Given the description of an element on the screen output the (x, y) to click on. 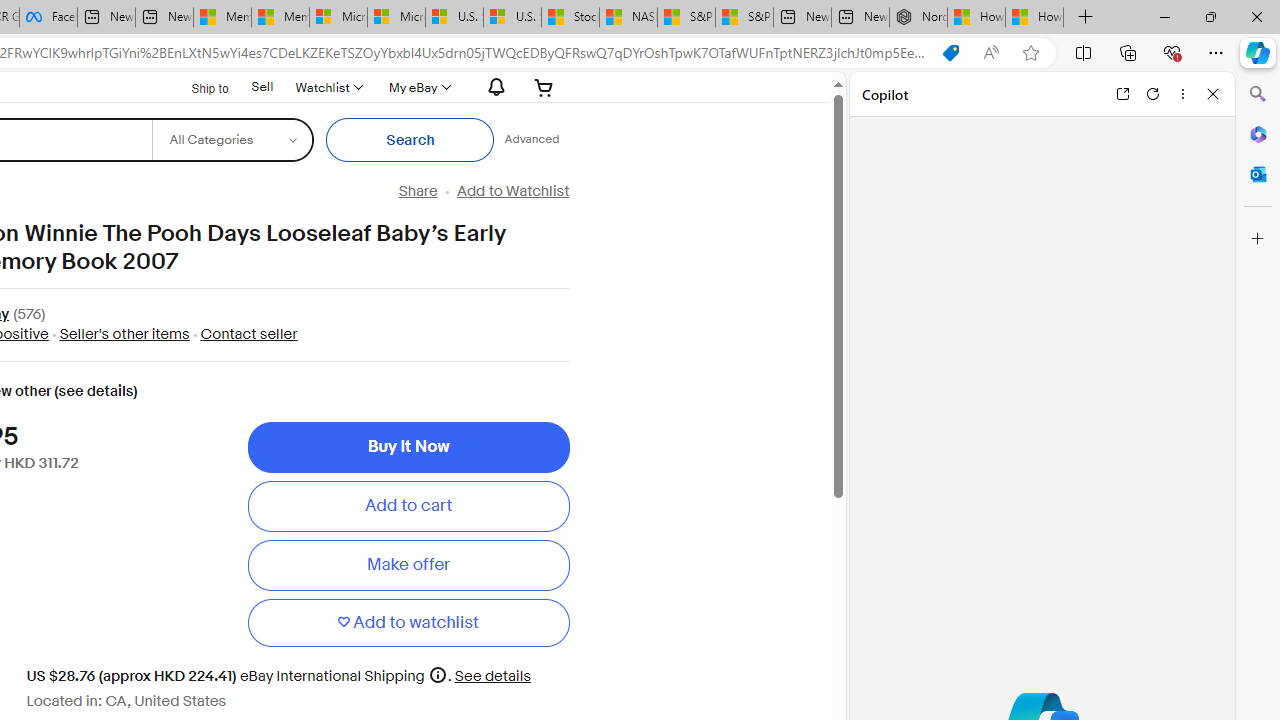
AutomationID: gh-eb-Alerts (493, 87)
Add to watchlist (408, 622)
Expand Cart (543, 87)
WatchlistExpand Watch List (328, 87)
S&P 500, Nasdaq end lower, weighed by Nvidia dip | Watch (744, 17)
Buy It Now (408, 447)
Add to cart (408, 506)
Buy It Now (408, 447)
Make offer (408, 565)
Ship to (197, 88)
(576) (29, 315)
Outlook (1258, 174)
See details for shipping (493, 676)
